Given the description of an element on the screen output the (x, y) to click on. 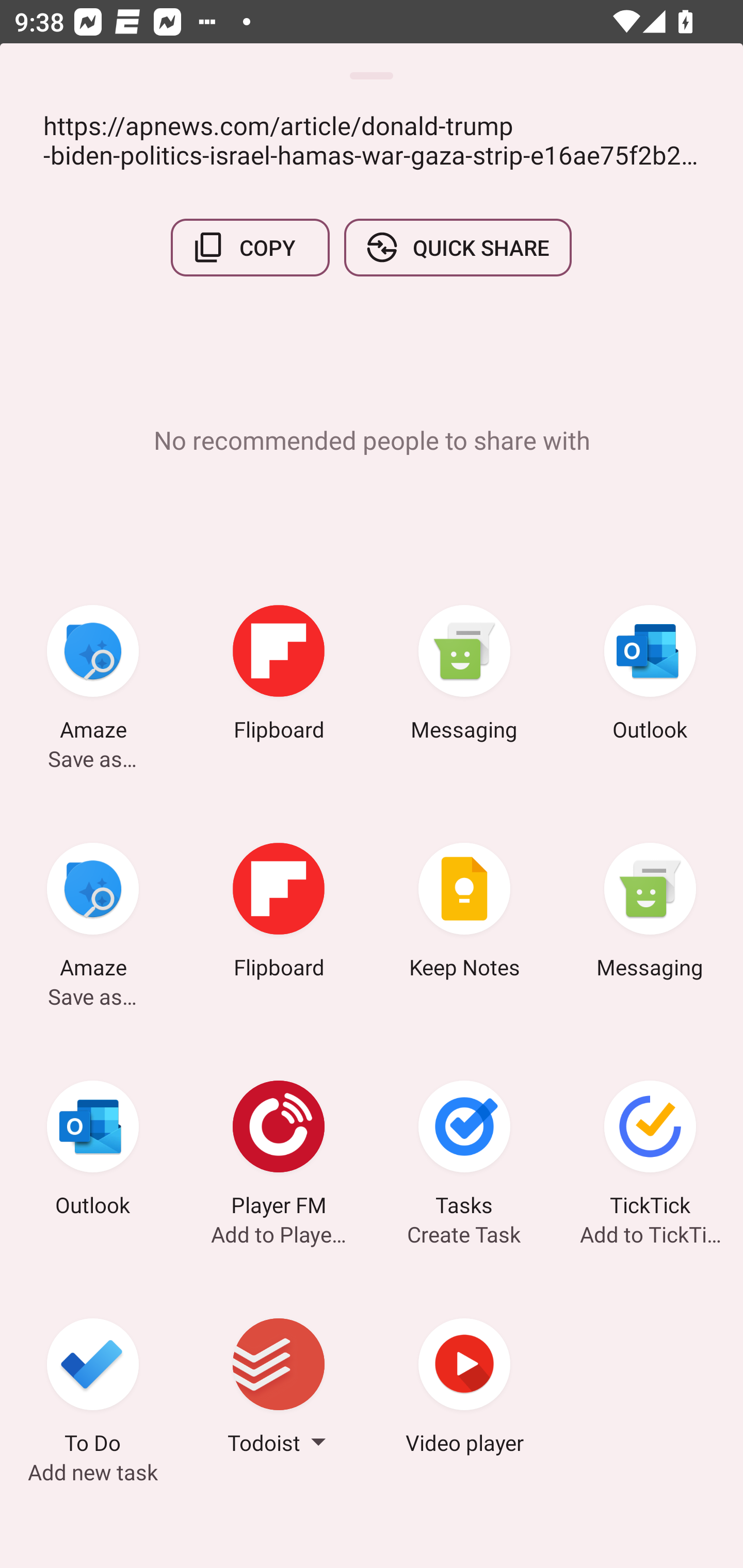
COPY (249, 247)
QUICK SHARE (457, 247)
Amaze Save as… (92, 675)
Flipboard (278, 675)
Messaging (464, 675)
Outlook (650, 675)
Amaze Save as… (92, 913)
Flipboard (278, 913)
Keep Notes (464, 913)
Messaging (650, 913)
Outlook (92, 1151)
Player FM Add to Player FM (278, 1151)
Tasks Create Task (464, 1151)
TickTick Add to TickTick (650, 1151)
To Do Add new task (92, 1389)
Todoist (278, 1389)
Video player (464, 1389)
